Given the description of an element on the screen output the (x, y) to click on. 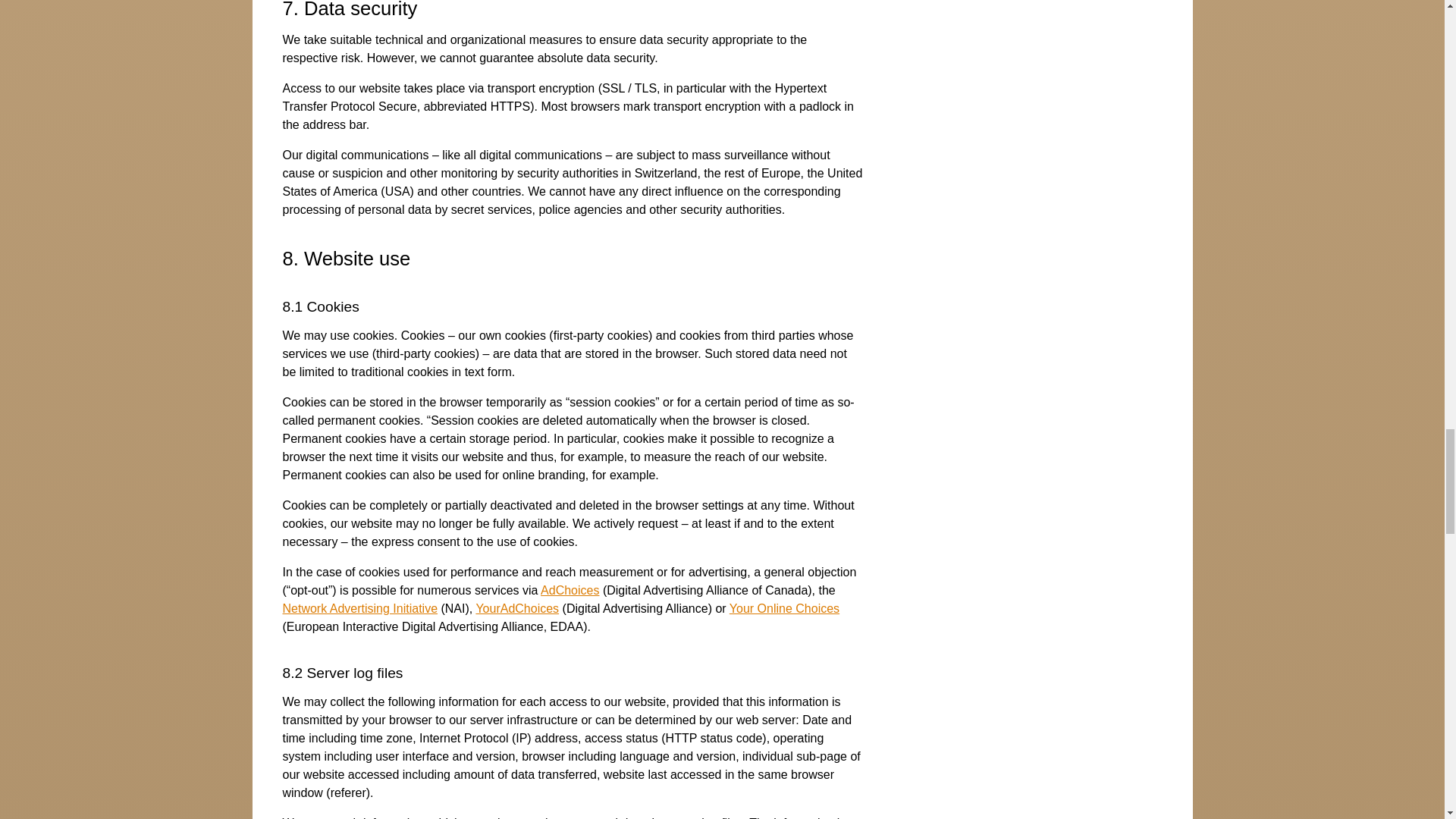
AdChoices (569, 590)
Network Advertising Initiative (360, 608)
Your Online Choices (784, 608)
YourAdChoices (517, 608)
